Given the description of an element on the screen output the (x, y) to click on. 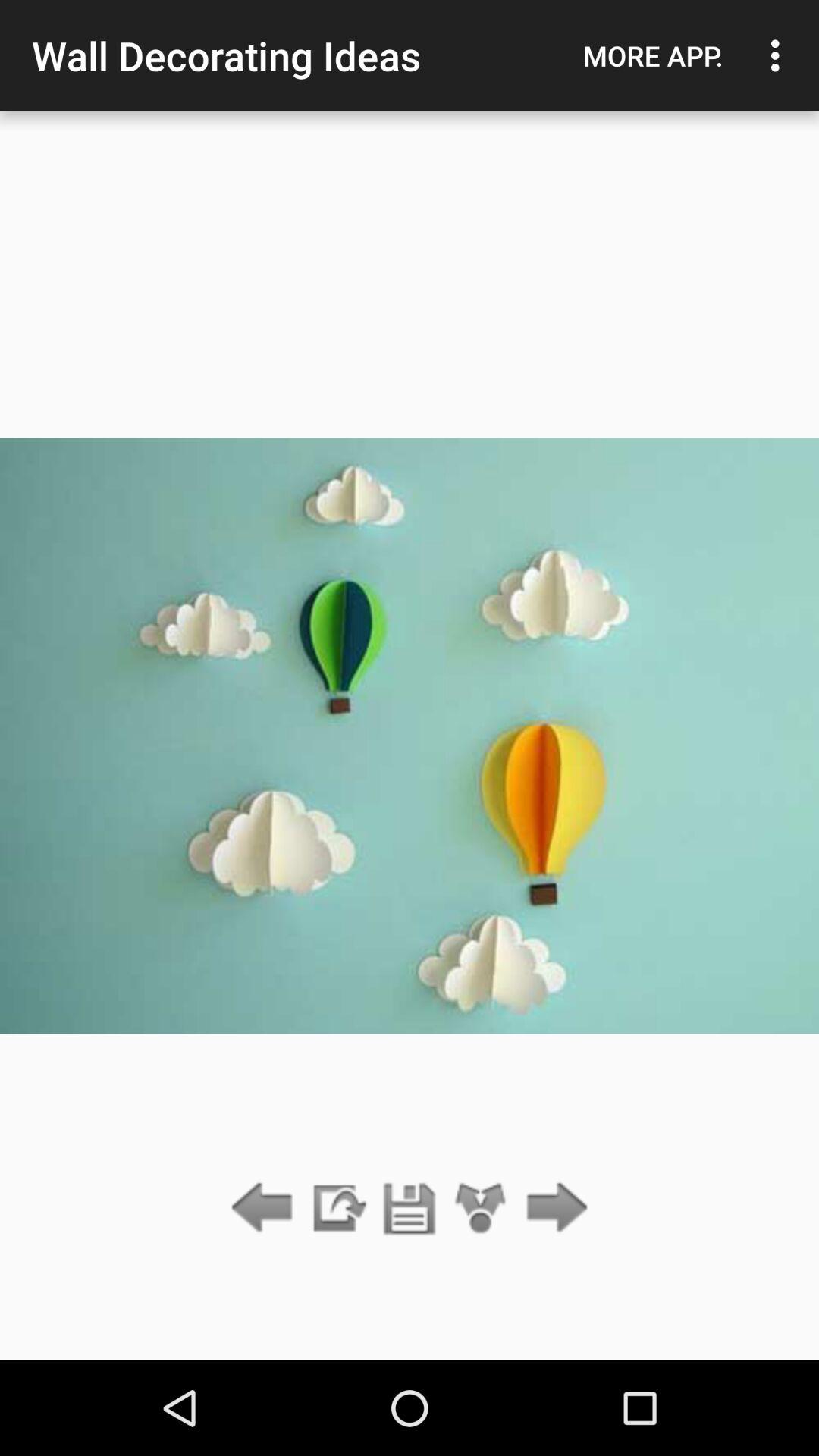
select the icon at the bottom right corner (552, 1209)
